Given the description of an element on the screen output the (x, y) to click on. 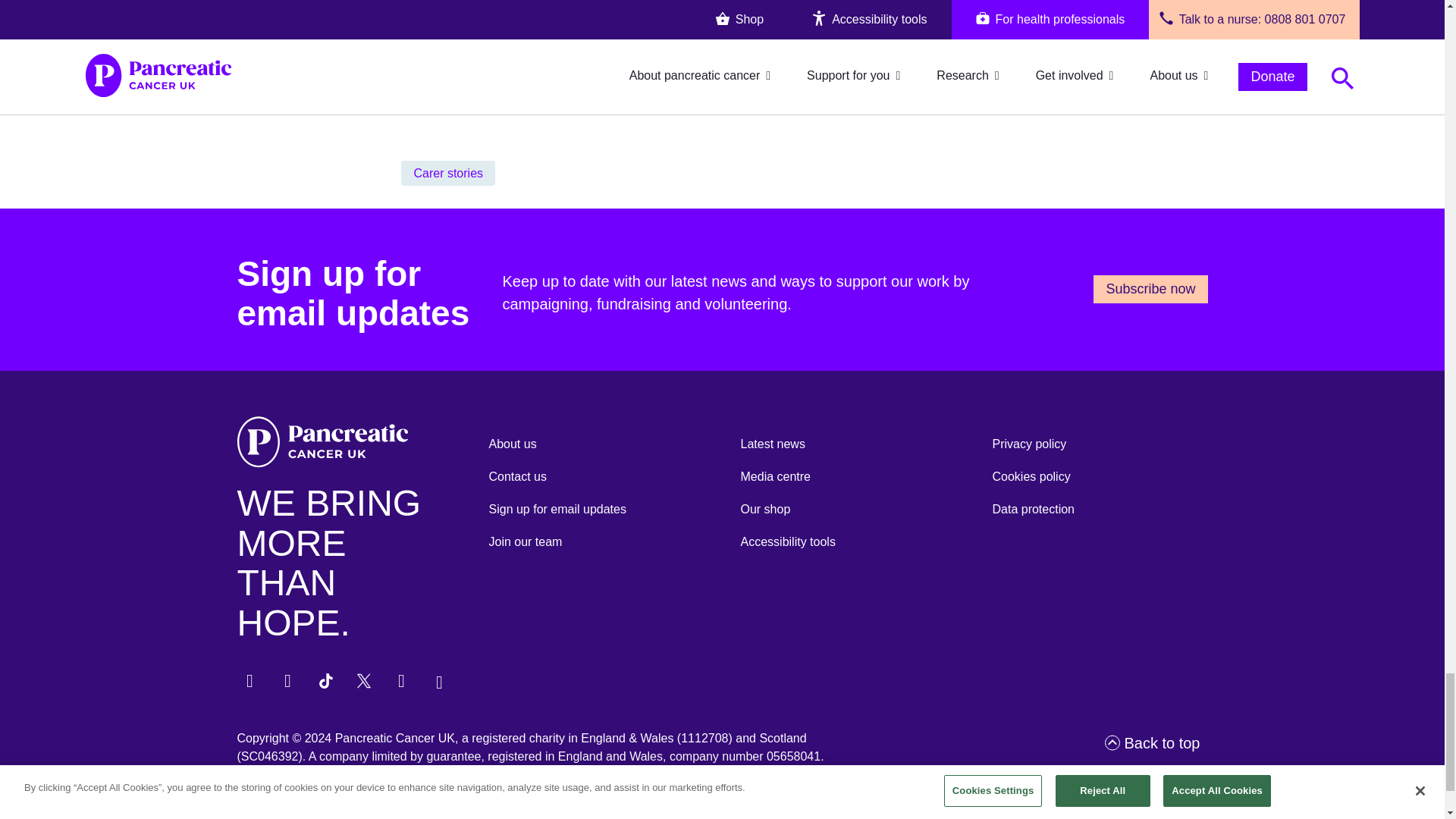
Pancreatic Cancer UK Youtube (439, 681)
Pancreatic Cancer UK Twitter (363, 680)
Pancreatic Cancer UK Facebook page (250, 680)
Pancreatic Cancer UK Instagram (288, 680)
Pancreatic Cancer UK Tiktok (325, 681)
Pancreatic Cancer UK Linked in (401, 680)
